Given the description of an element on the screen output the (x, y) to click on. 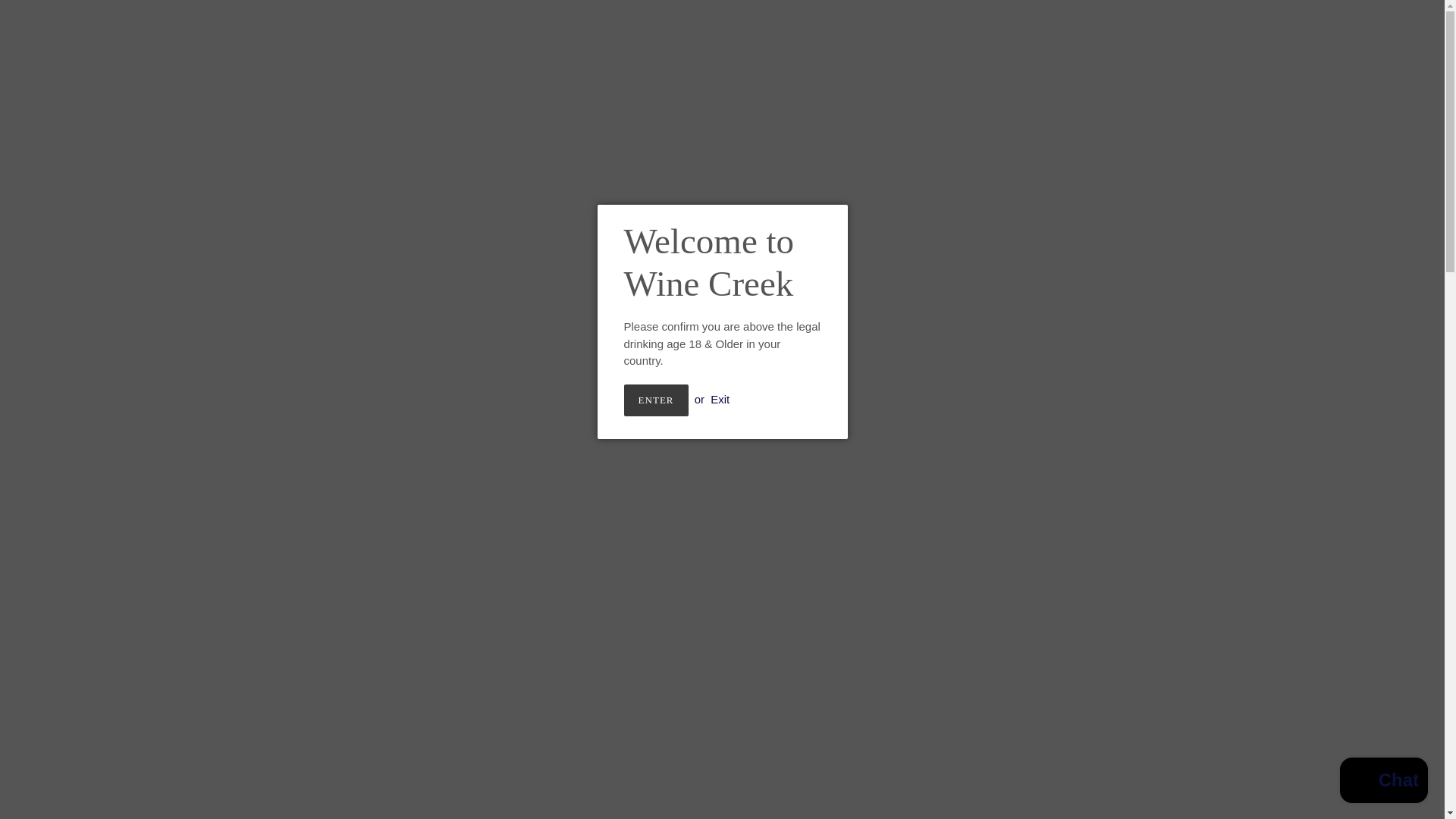
SPECIAL DEALS (751, 65)
TRADE (838, 65)
1 (909, 421)
Shopify online store chat (1383, 781)
HOME (532, 65)
ABOUT US (596, 65)
SHOP (667, 65)
